Given the description of an element on the screen output the (x, y) to click on. 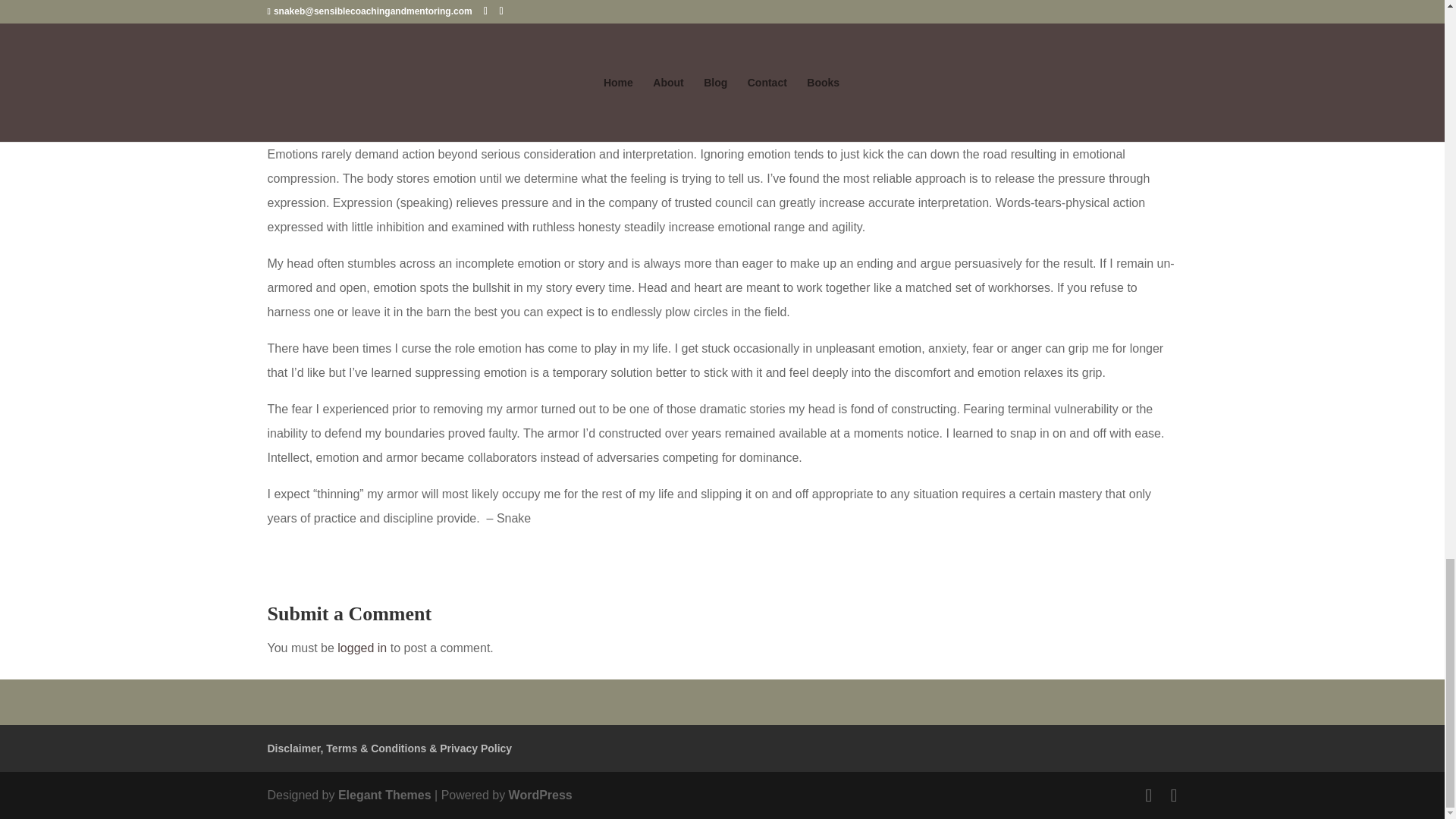
logged in (362, 647)
Premium WordPress Themes (383, 794)
Elegant Themes (383, 794)
WordPress (540, 794)
